Given the description of an element on the screen output the (x, y) to click on. 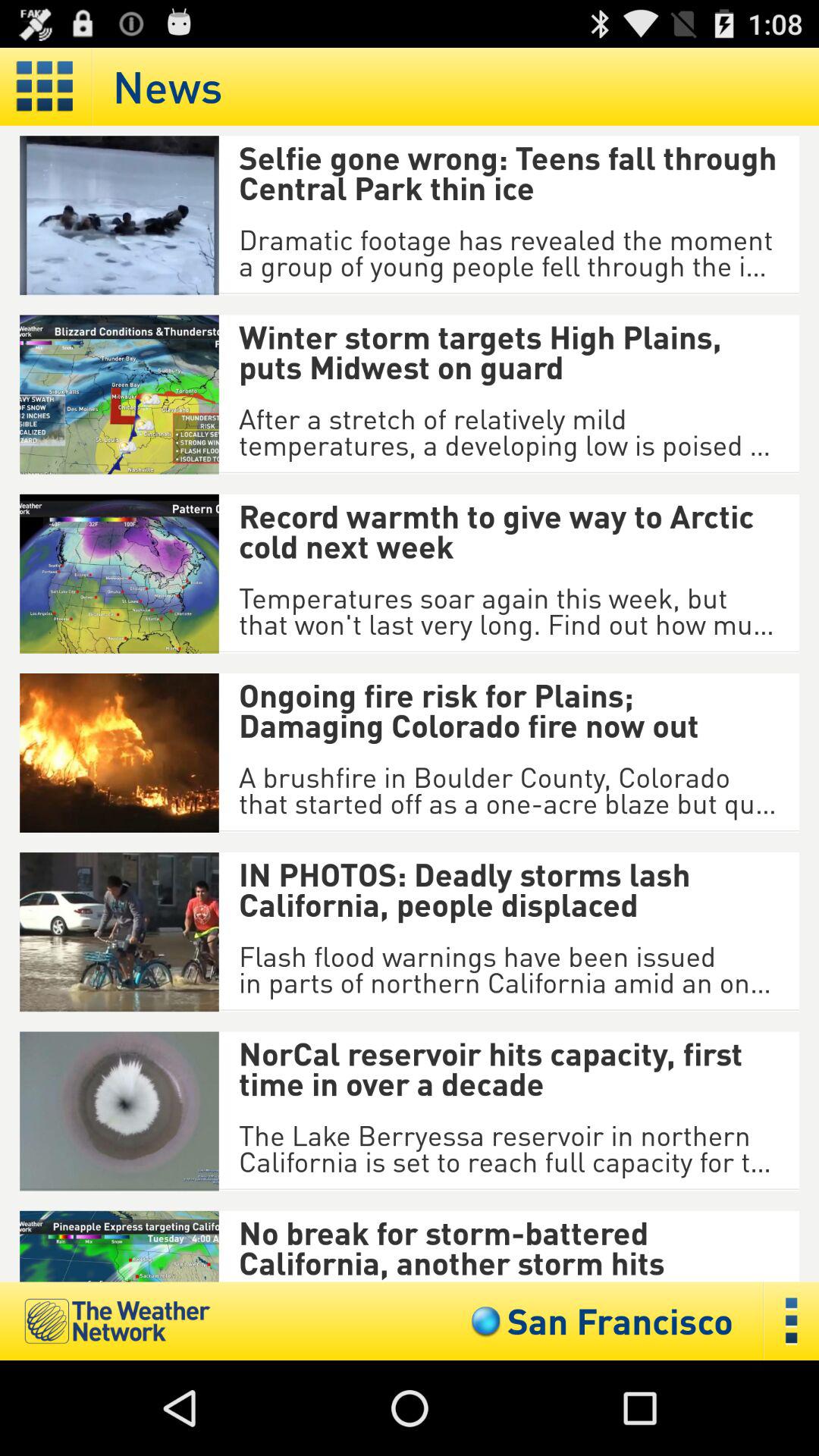
open list (791, 1320)
